Given the description of an element on the screen output the (x, y) to click on. 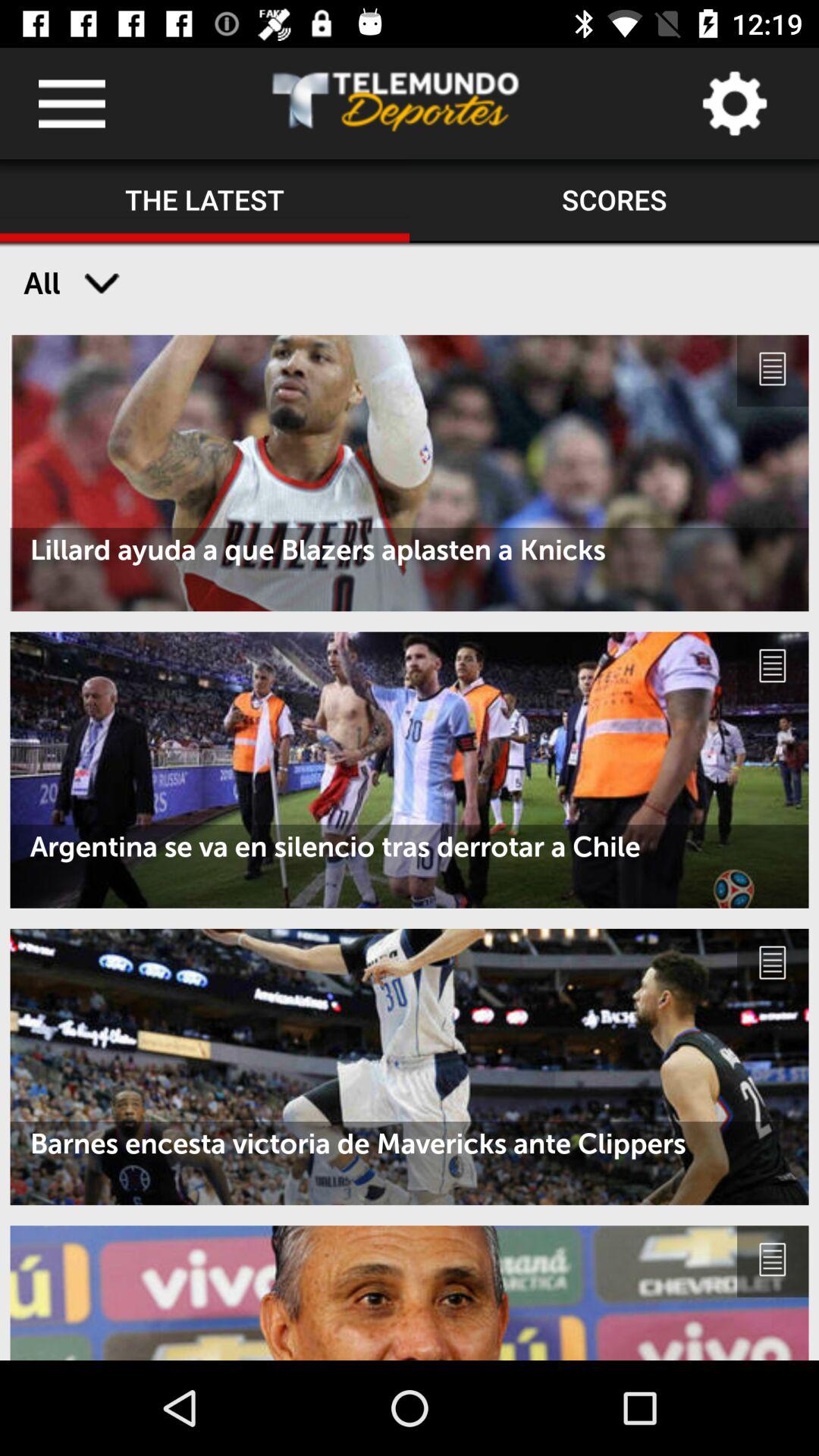
click the the latest icon (204, 200)
